Given the description of an element on the screen output the (x, y) to click on. 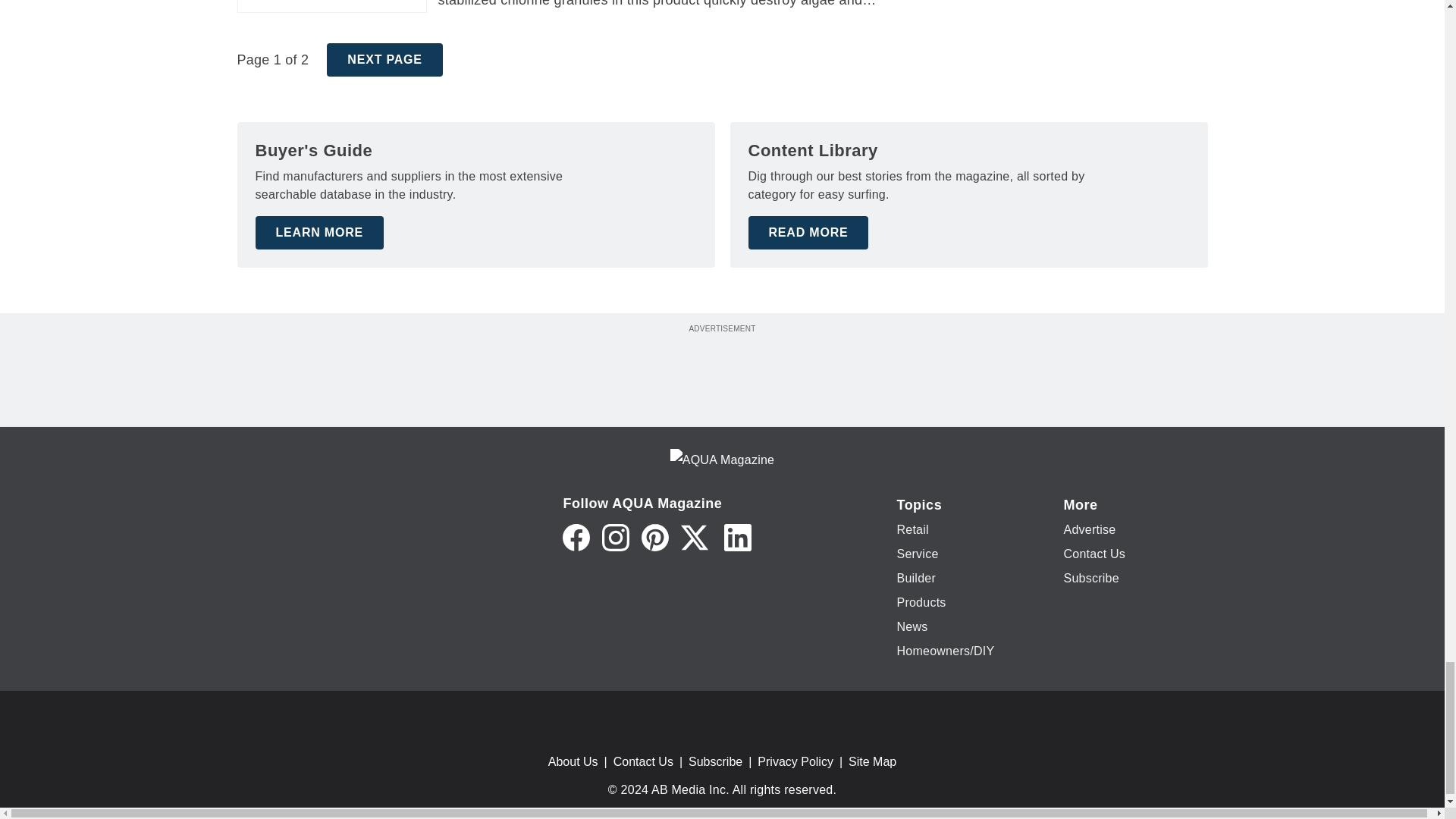
LinkedIn icon (737, 537)
Twitter X icon (694, 537)
Facebook icon (575, 537)
Instagram icon (615, 537)
Pinterest icon (655, 537)
